Given the description of an element on the screen output the (x, y) to click on. 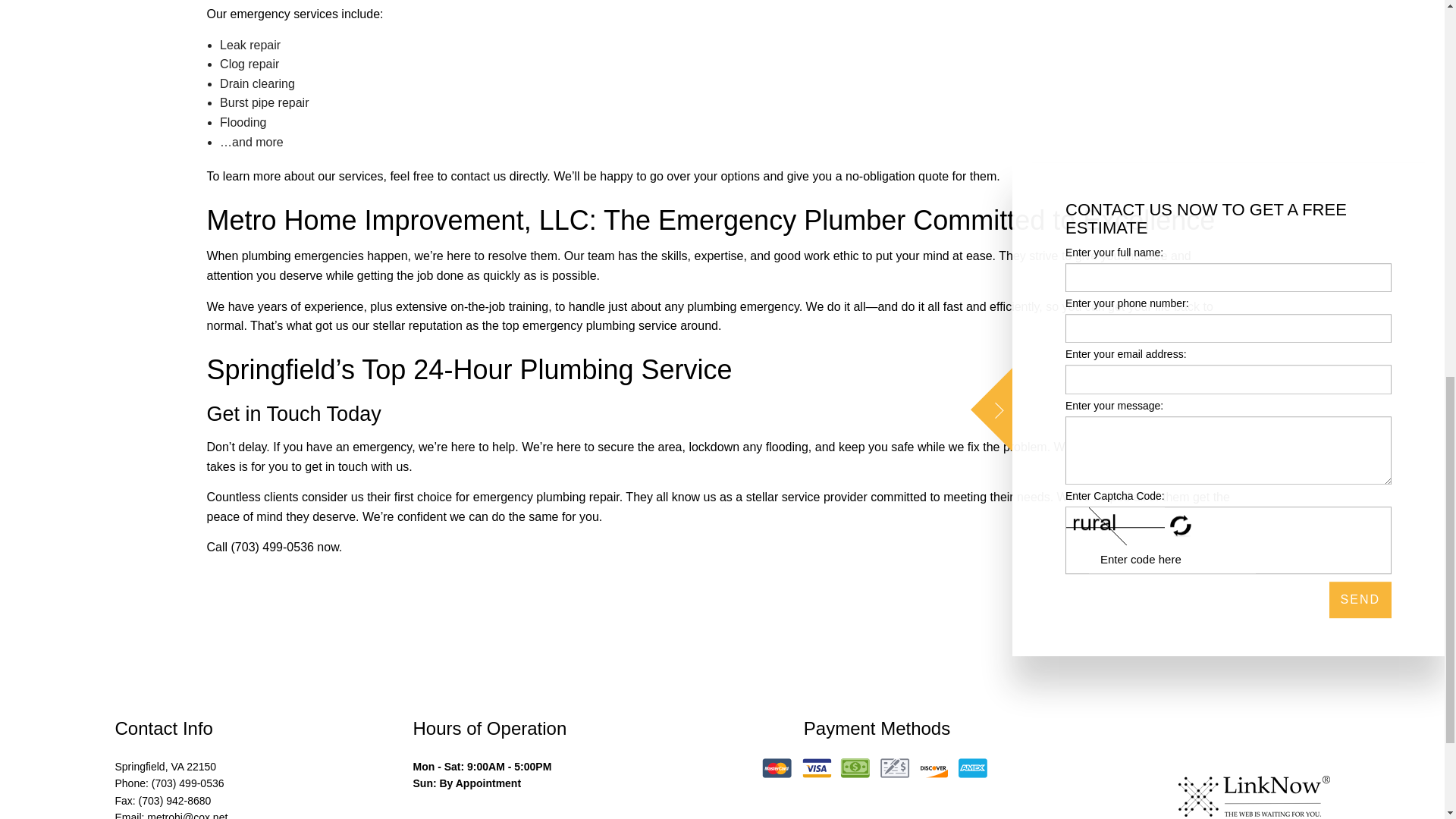
Mastercard (777, 768)
Check (895, 768)
American Express (972, 768)
Discover (933, 768)
Cash (855, 768)
Visa (816, 768)
